Given the description of an element on the screen output the (x, y) to click on. 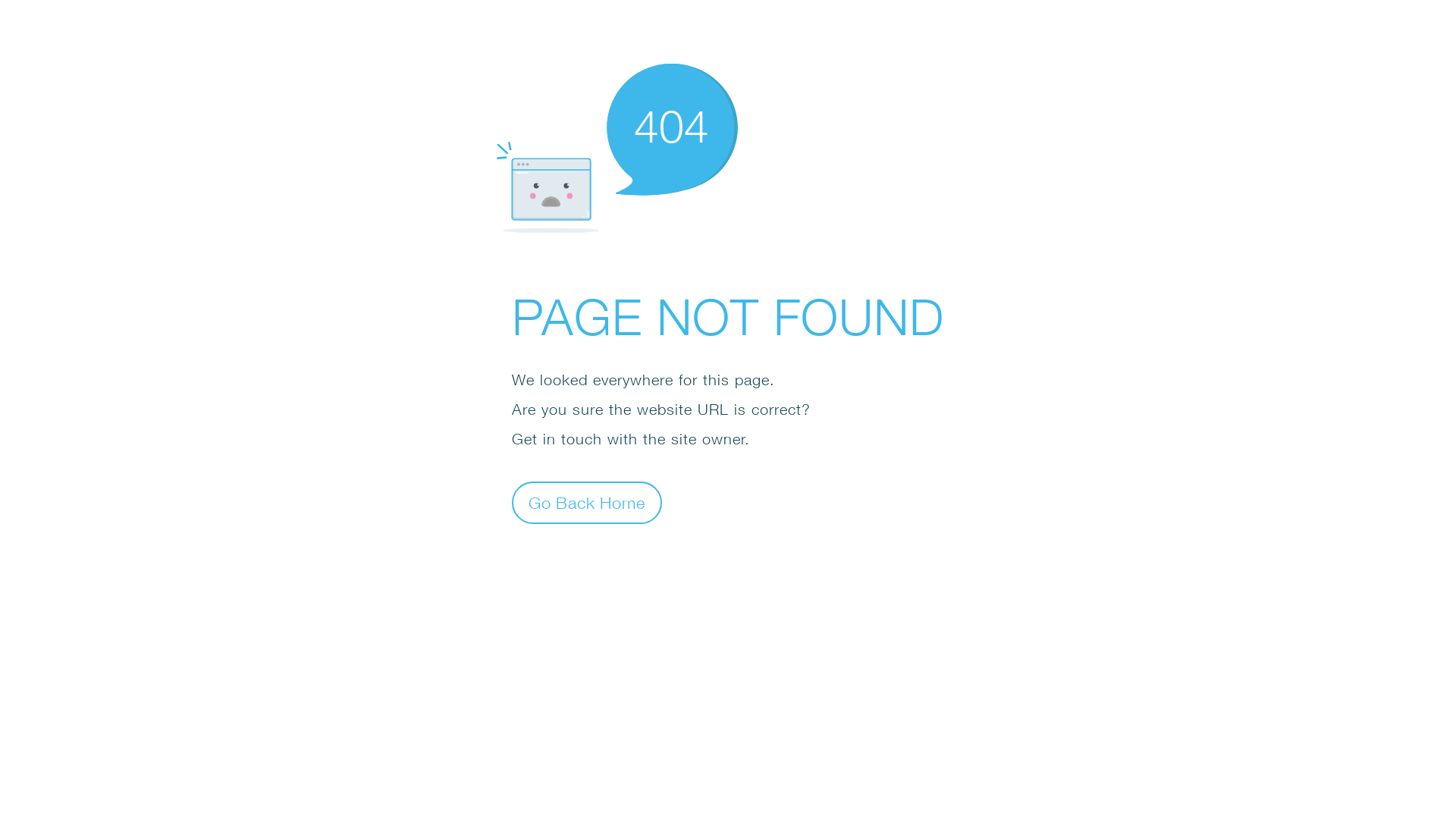
Go Back Home Element type: text (586, 502)
